Given the description of an element on the screen output the (x, y) to click on. 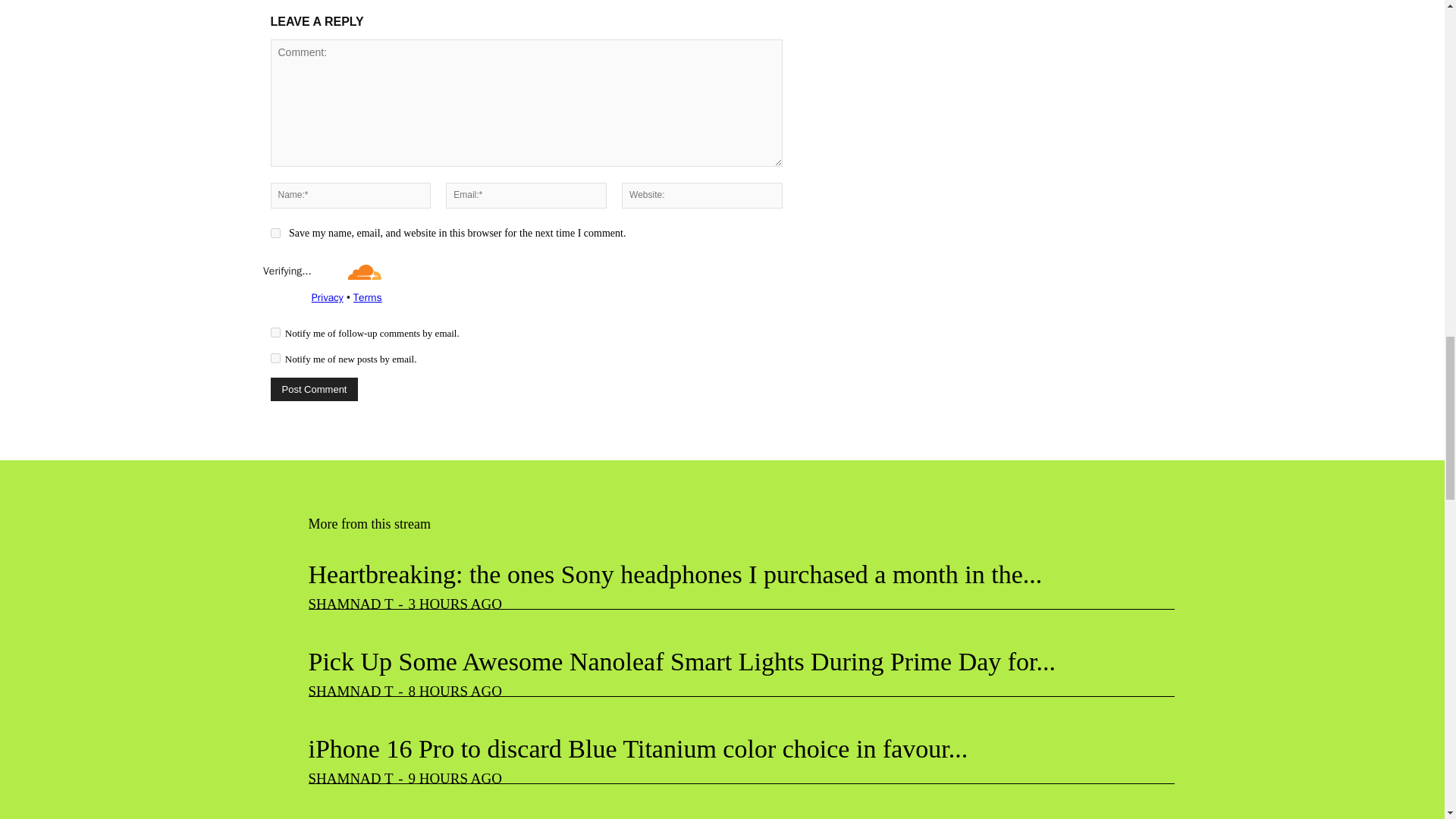
yes (274, 233)
subscribe (274, 332)
Post Comment (313, 389)
subscribe (274, 357)
